Given the description of an element on the screen output the (x, y) to click on. 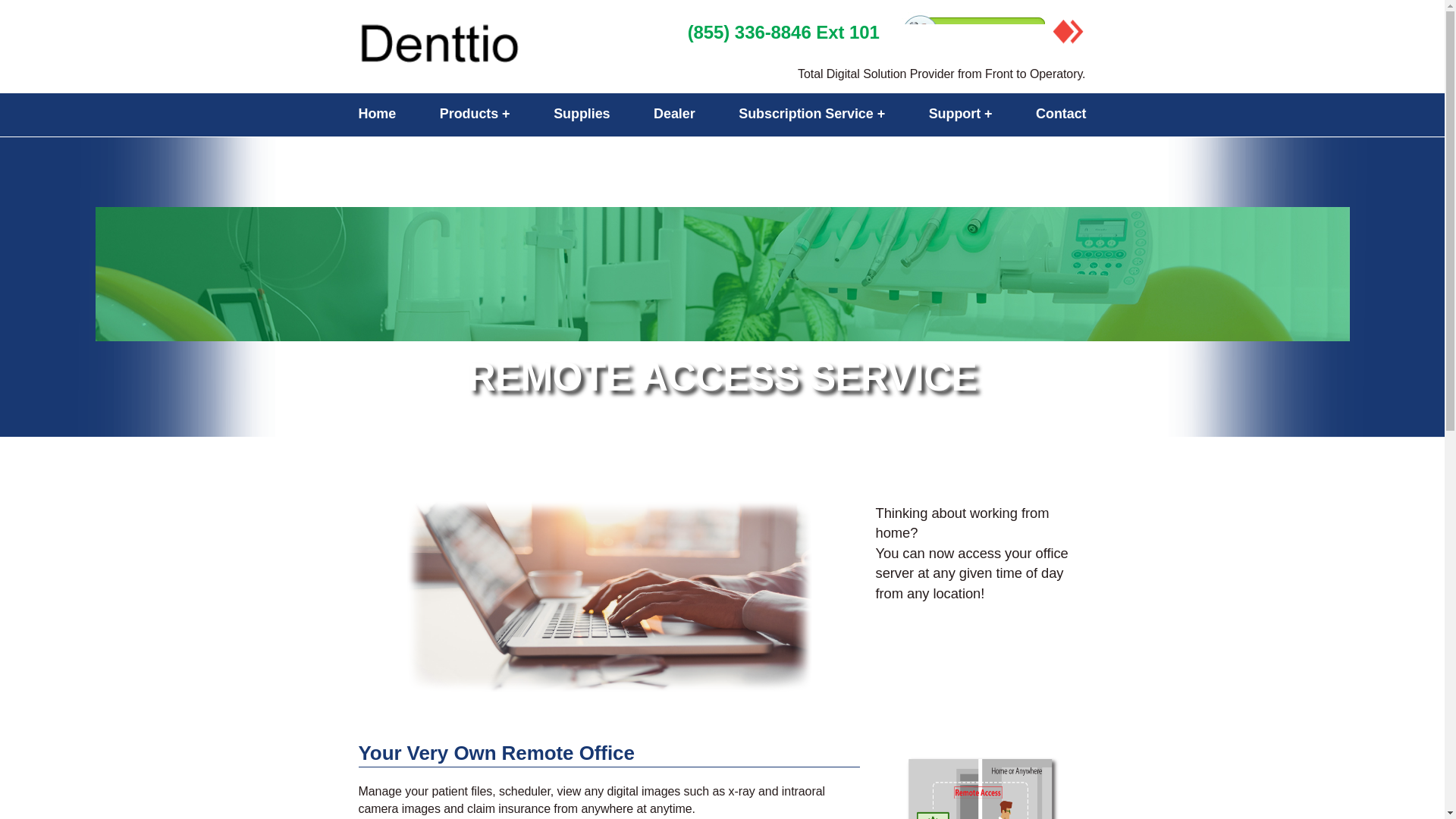
Property Service (498, 45)
AnyDesk (1067, 32)
Supplies (581, 113)
Support (960, 113)
Subscription Service (811, 113)
Products (475, 113)
Home (377, 113)
Dealer (674, 113)
Contact (1060, 113)
